Given the description of an element on the screen output the (x, y) to click on. 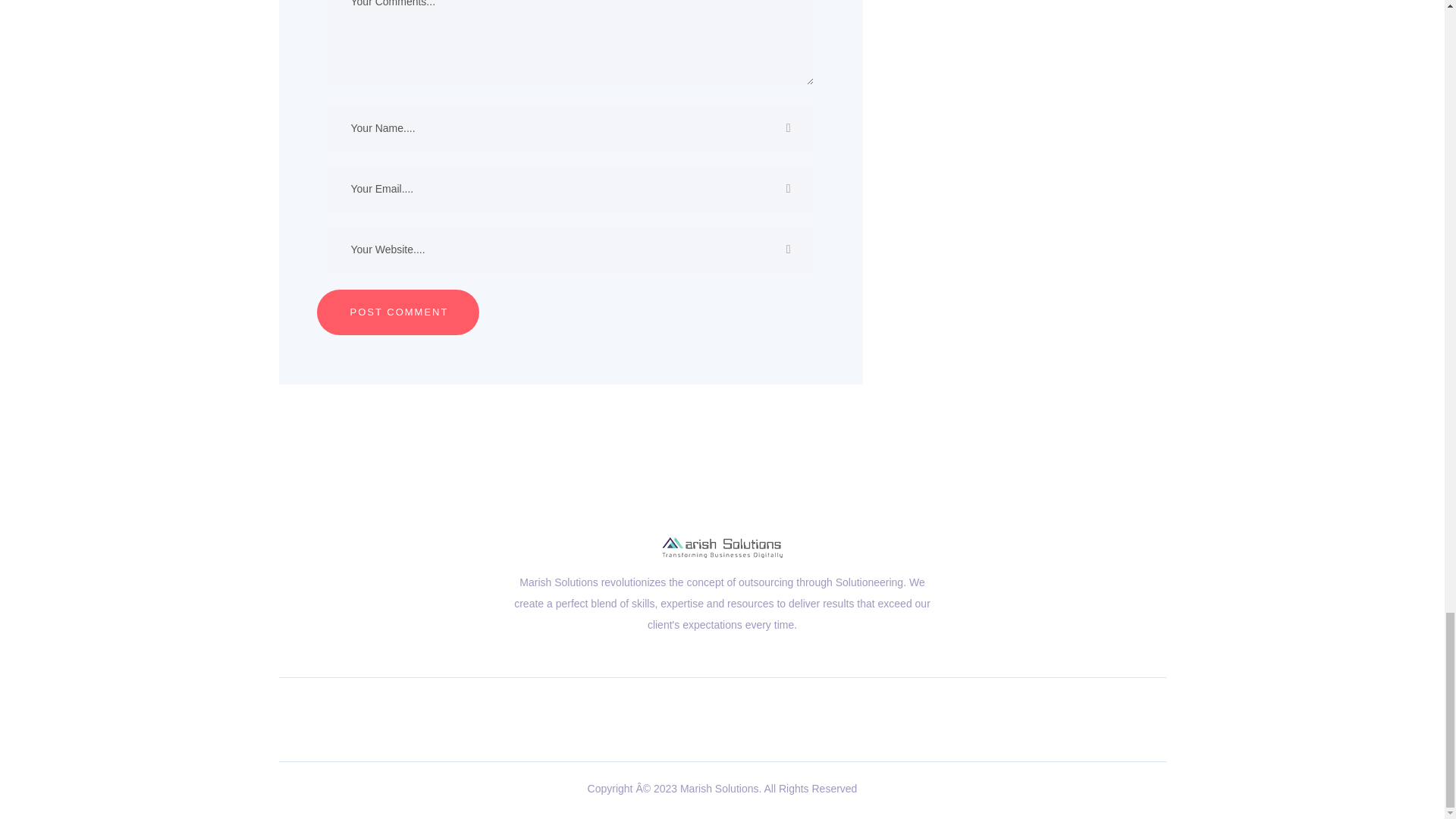
Post comment (398, 311)
Post comment (398, 311)
